Given the description of an element on the screen output the (x, y) to click on. 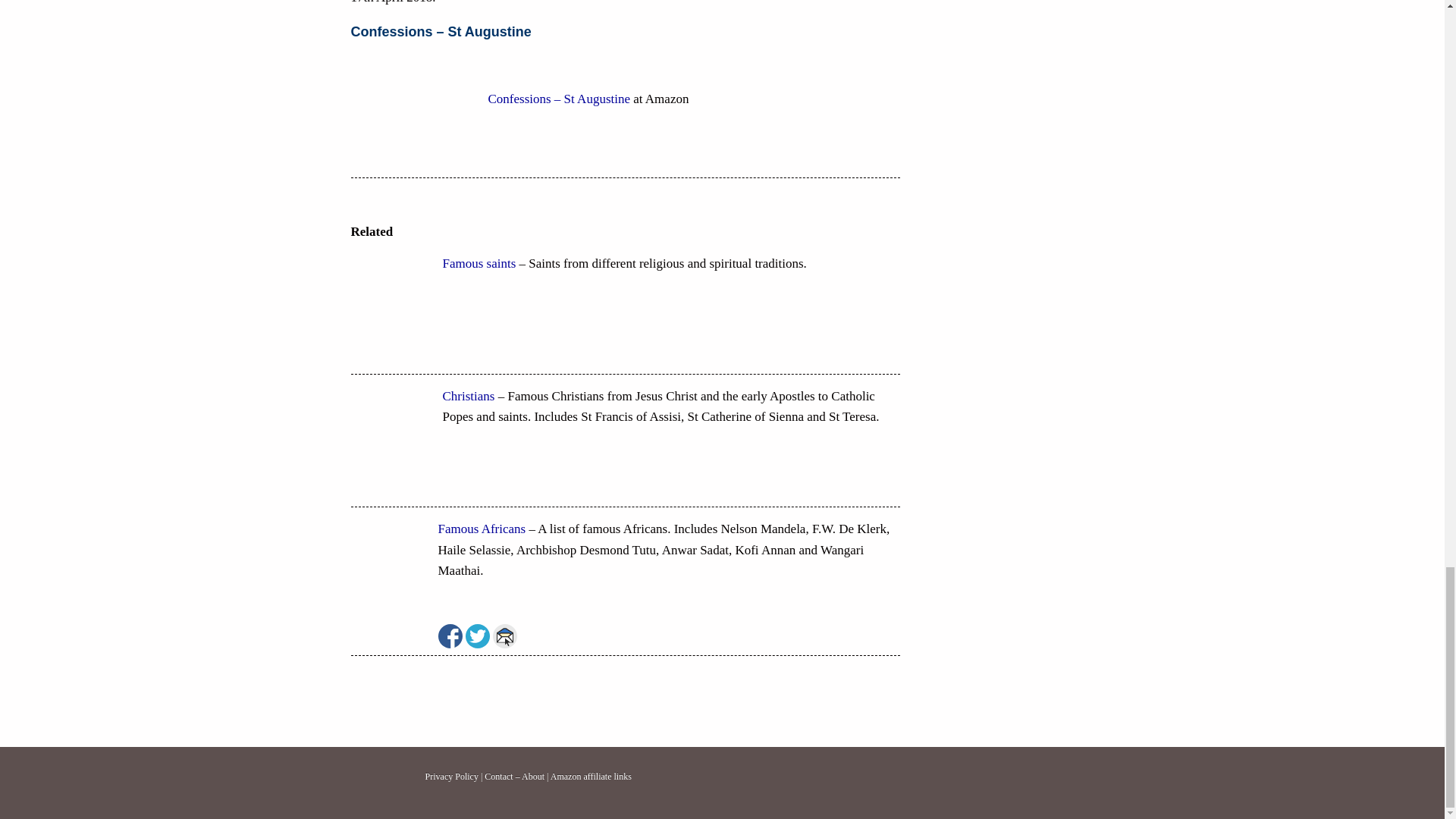
Famous saints (479, 263)
Christians (468, 396)
Famous African people (481, 528)
Famous Africans (481, 528)
